Given the description of an element on the screen output the (x, y) to click on. 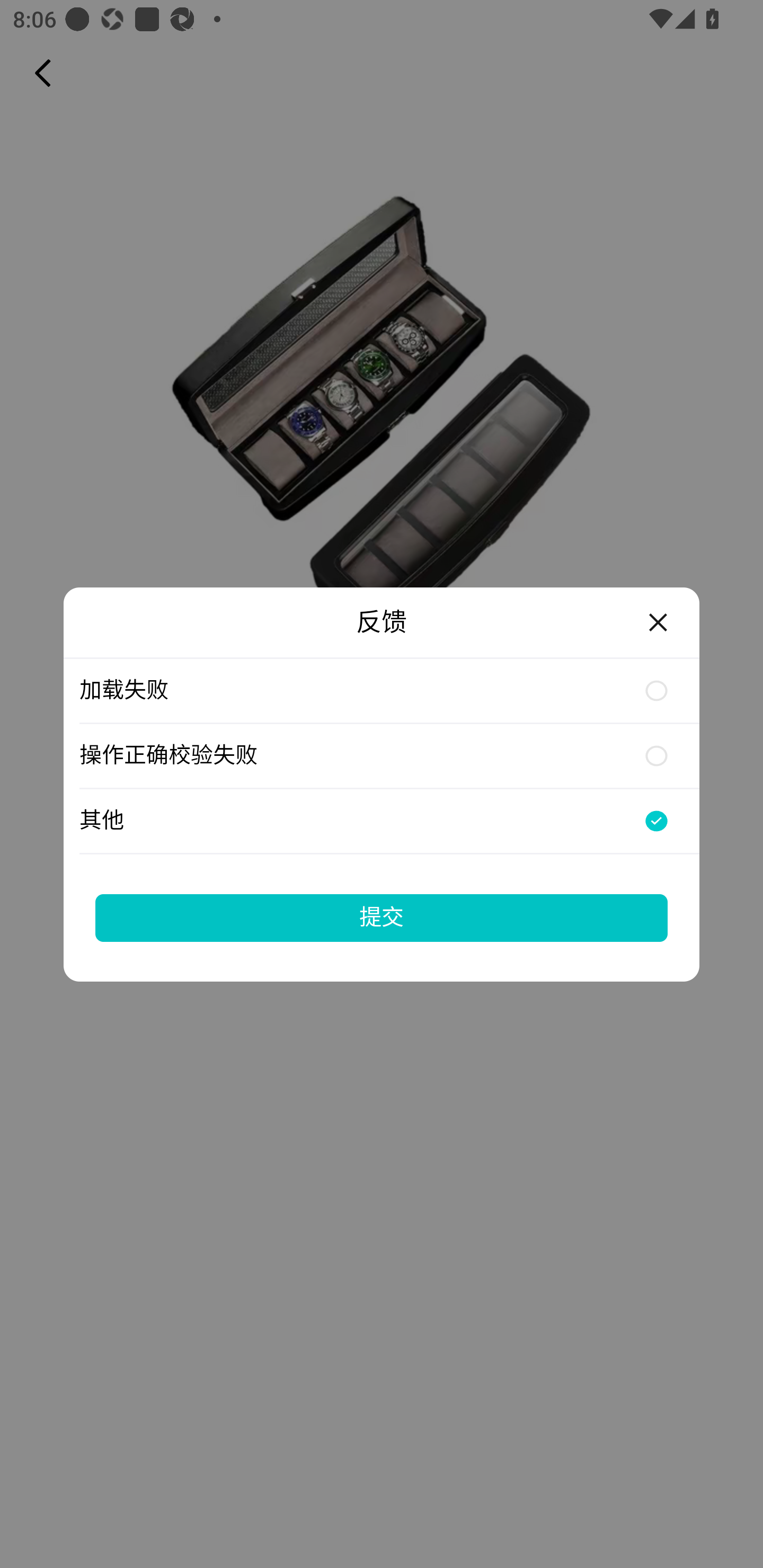
提交 (381, 917)
